Given the description of an element on the screen output the (x, y) to click on. 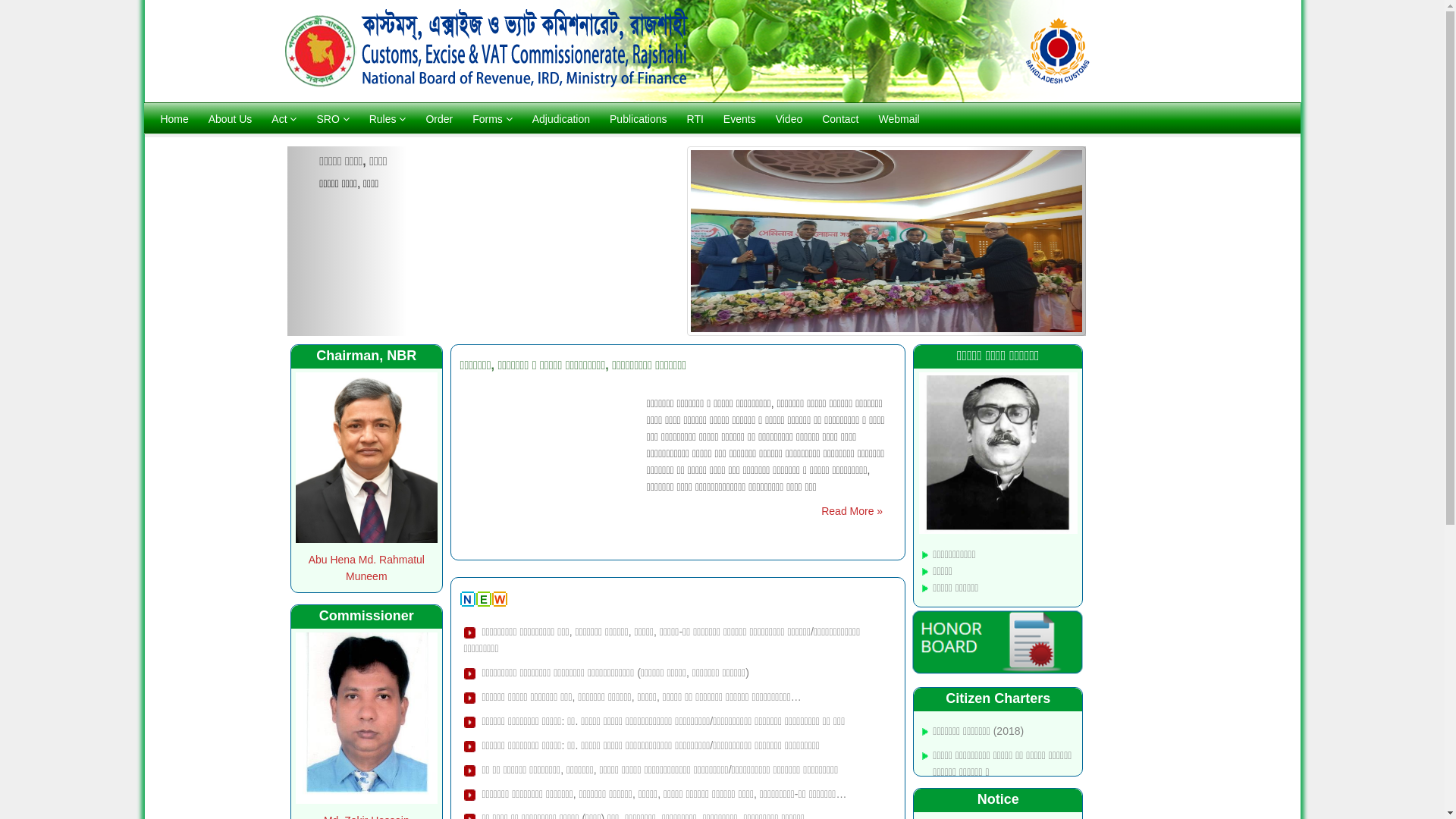
Rules Element type: text (387, 118)
About Us Element type: text (230, 118)
RTI Element type: text (695, 118)
Forms Element type: text (492, 118)
Adjudication Element type: text (560, 118)
Commissioner Element type: text (366, 616)
Home Element type: text (173, 118)
Chairman, NBR Element type: text (366, 356)
Act Element type: text (283, 118)
Next Element type: text (1025, 240)
Video Element type: text (788, 118)
Publications Element type: text (638, 118)
Webmail Element type: text (898, 118)
Events Element type: text (739, 118)
SRO Element type: text (332, 118)
Previous Element type: text (347, 240)
Contact Element type: text (840, 118)
Order Element type: text (438, 118)
Abu Hena Md. Rahmatul Muneem Element type: text (366, 567)
